Given the description of an element on the screen output the (x, y) to click on. 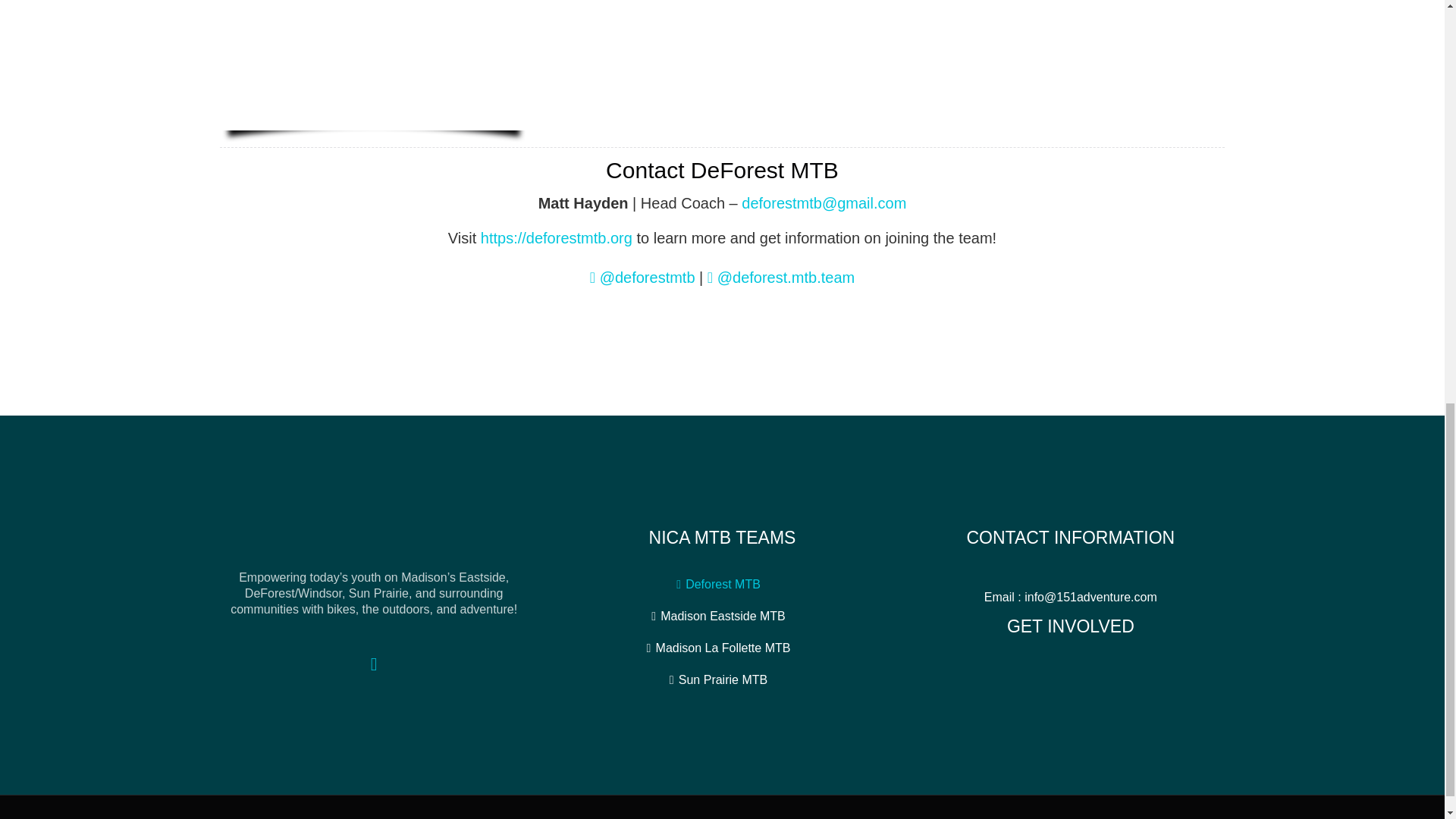
Madison Eastside MTB (723, 615)
Deforest MTB (722, 584)
151 Adventure Logo (373, 542)
Madison La Follette MTB (723, 647)
DR1D0641 (373, 65)
Sun Prairie MTB (722, 679)
